Given the description of an element on the screen output the (x, y) to click on. 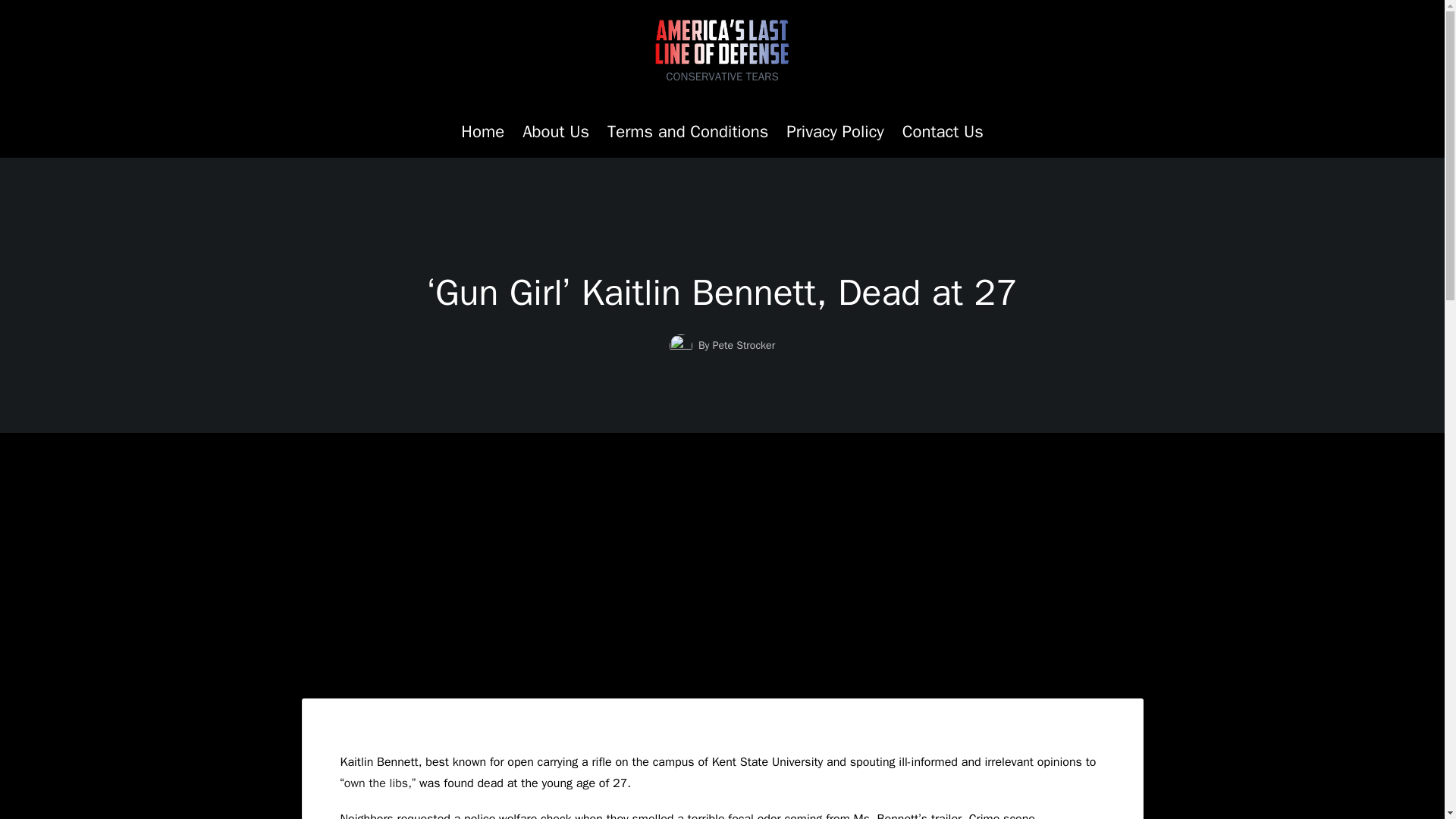
About Us (555, 132)
Pete Strocker (743, 345)
Terms and Conditions (687, 132)
Contact Us (943, 132)
View all posts by Pete Strocker (743, 345)
Privacy Policy (834, 132)
